Given the description of an element on the screen output the (x, y) to click on. 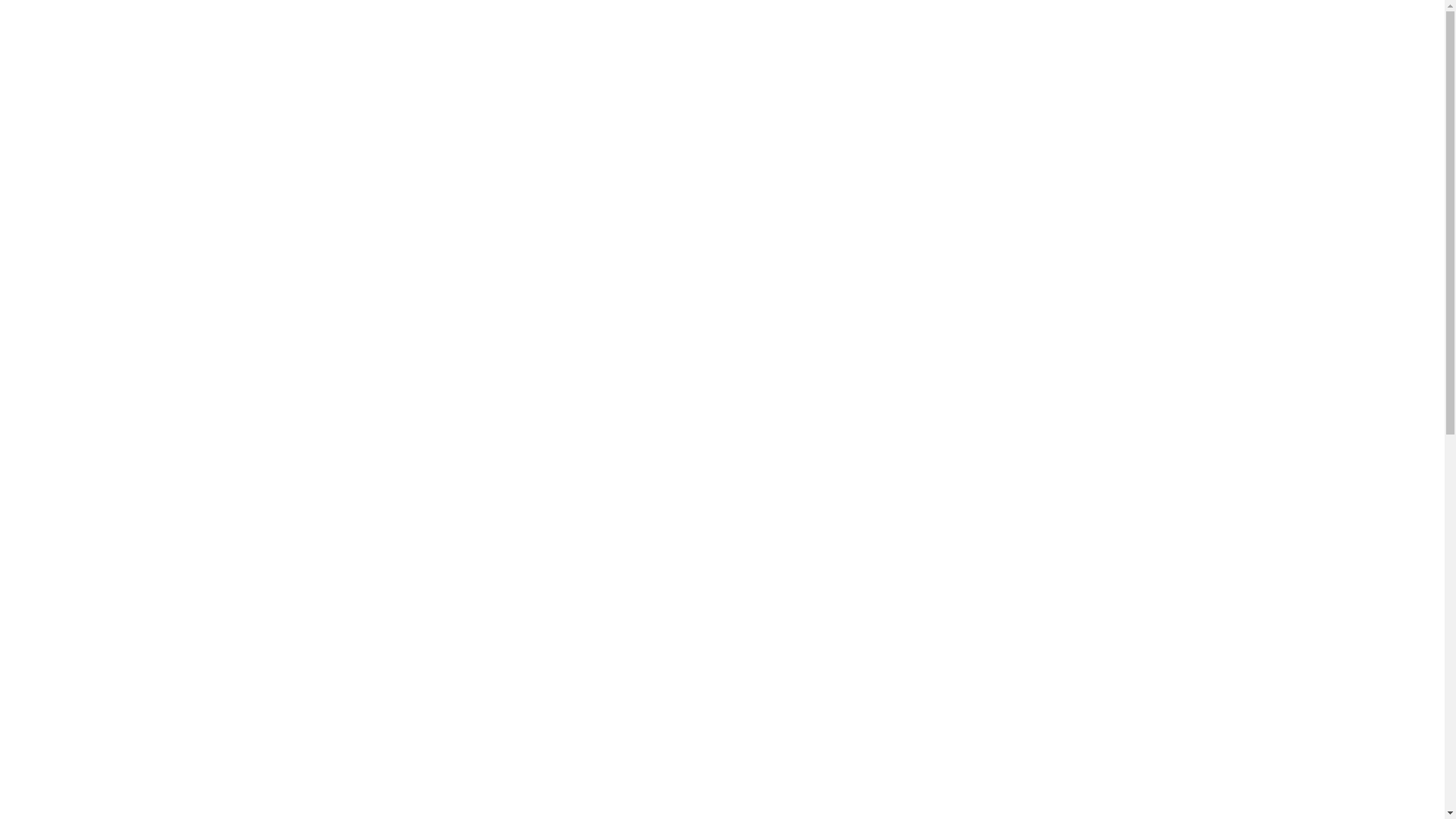
FUELS AND OILS Element type: text (810, 124)
HARDWARE Element type: text (643, 124)
EQUIPMENT SALES Element type: text (553, 124)
HOME Element type: text (390, 124)
WORKSHOP Element type: text (894, 124)
SPARE PARTS Element type: text (722, 124)
CONTACT US Element type: text (1037, 124)
SPECIALS Element type: text (964, 124)
Industrial Replacements Batemans Bay Element type: hover (319, 733)
SHOP ON-LINE Element type: text (457, 124)
